Given the description of an element on the screen output the (x, y) to click on. 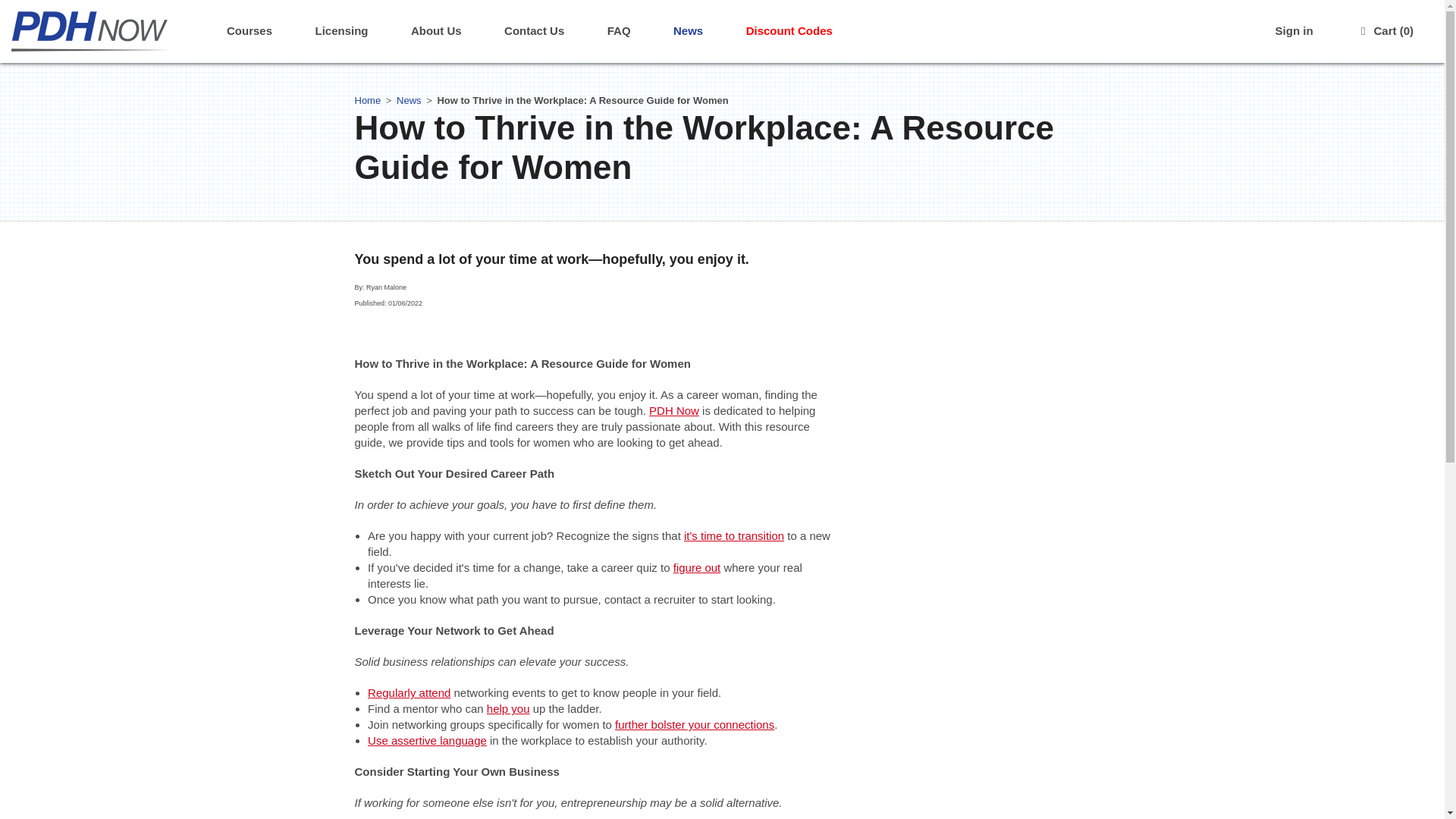
Discount Codes (788, 31)
Contact Us (533, 31)
News (687, 31)
About Us (436, 31)
Courses (249, 31)
Licensing (341, 31)
Use assertive language (427, 739)
PDH Now (673, 410)
Sign in (1294, 31)
figure out (696, 567)
